Given the description of an element on the screen output the (x, y) to click on. 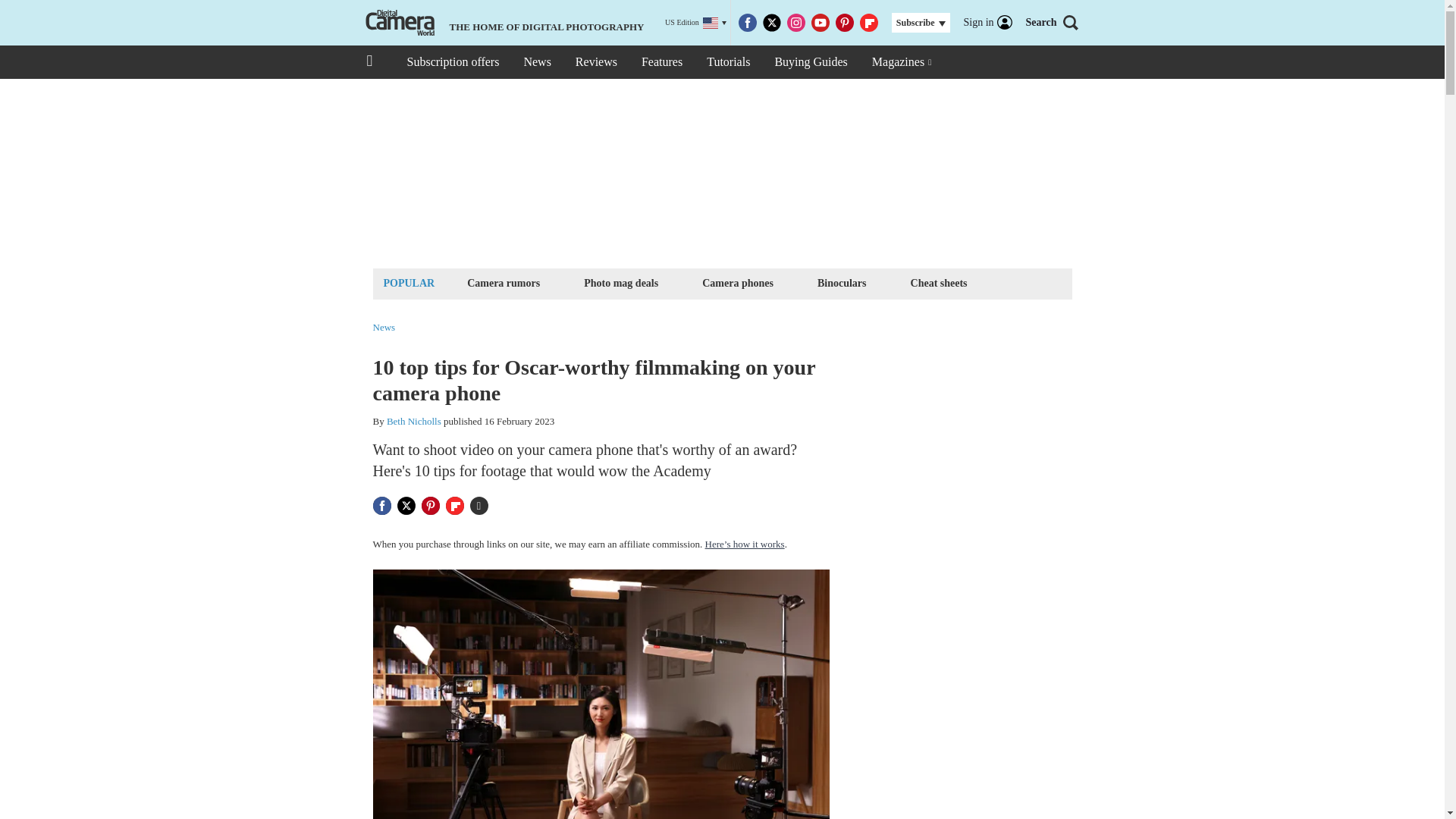
Subscription offers (452, 61)
Buying Guides (810, 61)
Camera phones (737, 282)
Camera rumors (502, 282)
Reviews (595, 61)
Photo mag deals (620, 282)
Cheat sheets (938, 282)
Tutorials (727, 61)
US Edition (695, 22)
News (536, 61)
